Given the description of an element on the screen output the (x, y) to click on. 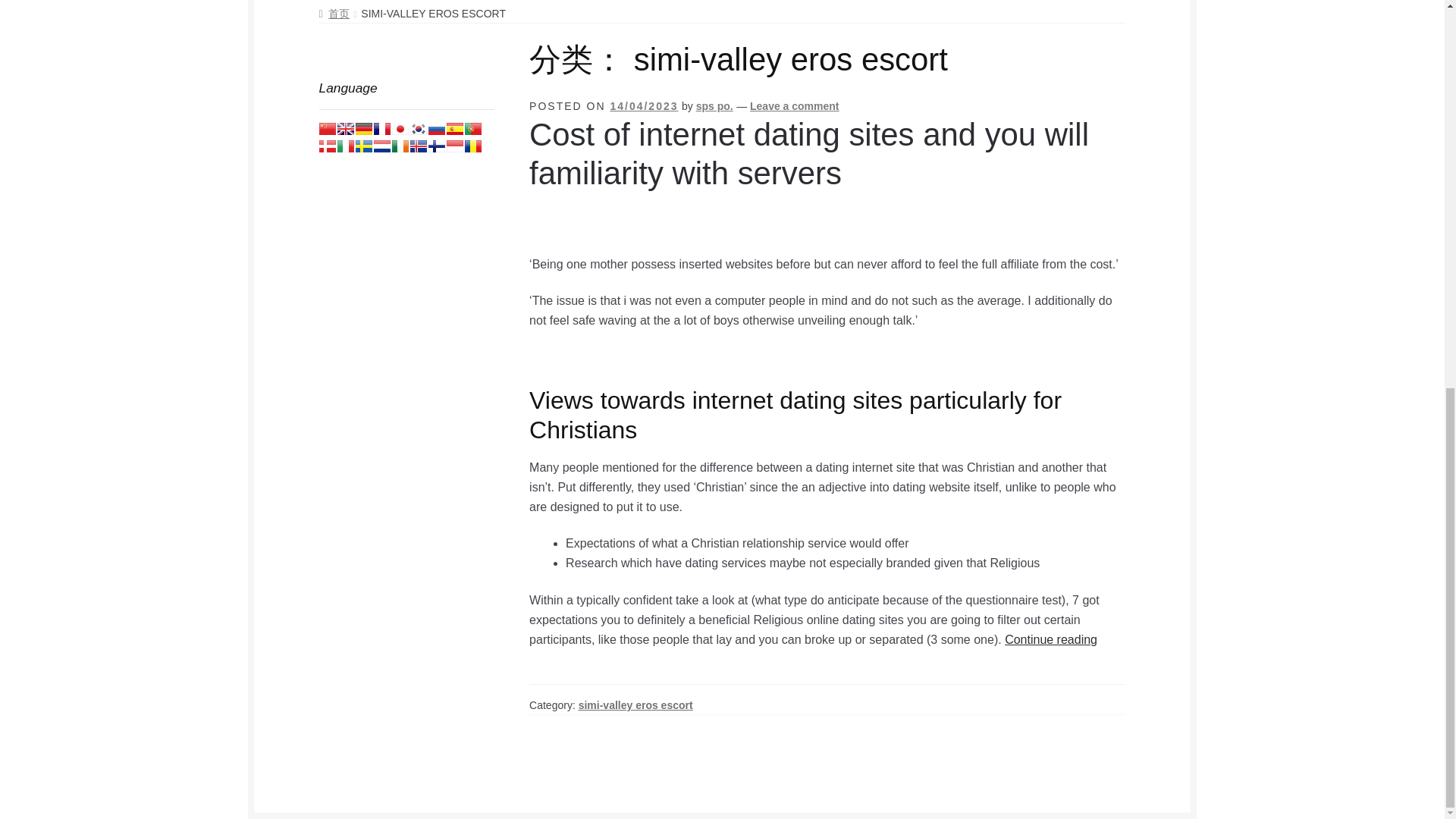
English (345, 128)
Russian (436, 128)
Spanish (454, 128)
sps po. (714, 105)
Korean (418, 128)
Dutch (382, 146)
Chinese Simplified (327, 128)
Portuguese (472, 128)
